Given the description of an element on the screen output the (x, y) to click on. 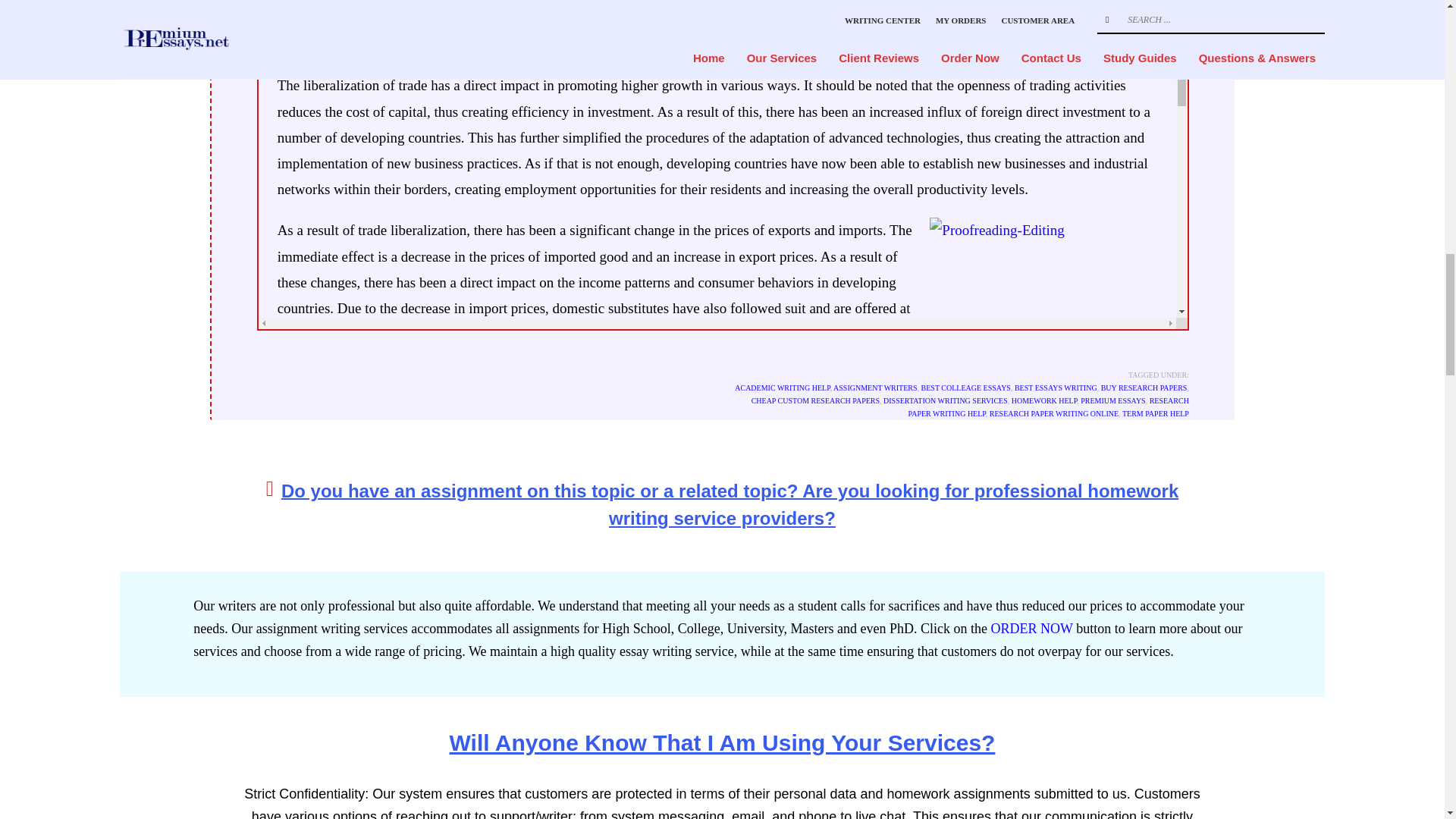
BEST ESSAYS WRITING (1055, 388)
TERM PAPER HELP (1155, 413)
placing an order (400, 612)
HOMEWORK HELP (1044, 400)
PREMIUM ESSAYS (1112, 400)
RESEARCH PAPER WRITING ONLINE (1054, 413)
BUY RESEARCH PAPERS (1144, 388)
ASSIGNMENT WRITERS (874, 388)
Premium Essays (864, 612)
RESEARCH PAPER WRITING HELP (1048, 406)
BEST COLLEAGE ESSAYS (965, 388)
ORDER NOW (1030, 628)
ACADEMIC WRITING HELP (782, 388)
CHEAP CUSTOM RESEARCH PAPERS (815, 400)
academic papers (501, 638)
